Given the description of an element on the screen output the (x, y) to click on. 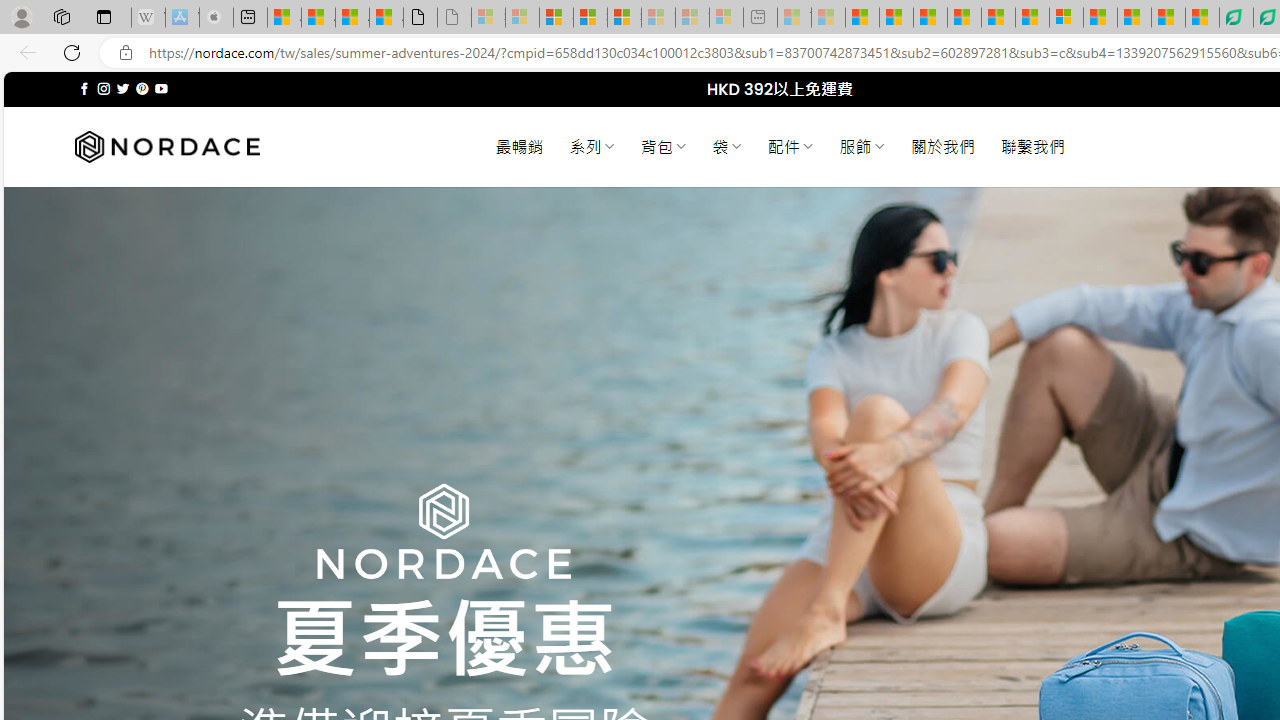
Buy iPad - Apple - Sleeping (215, 17)
Follow on Facebook (84, 88)
Microsoft Services Agreement - Sleeping (521, 17)
Aberdeen, Hong Kong SAR weather forecast | Microsoft Weather (318, 17)
Follow on YouTube (160, 88)
Refresh (72, 52)
Marine life - MSN - Sleeping (827, 17)
